Given the description of an element on the screen output the (x, y) to click on. 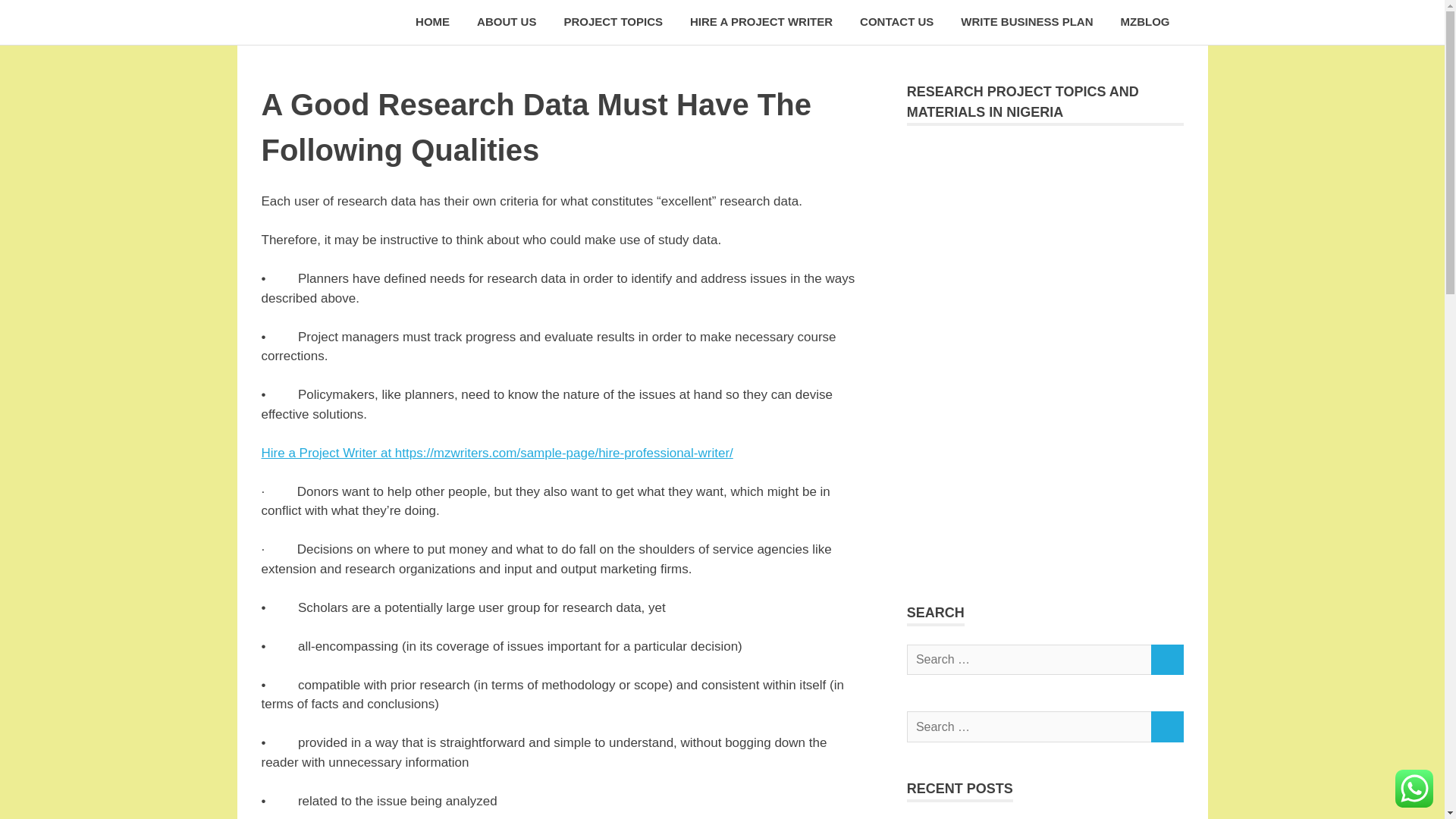
SEARCH (1166, 726)
HOME (432, 22)
MZBLOG (1144, 22)
Search for: (1029, 726)
Hire a Project Writer at  (327, 452)
WRITE BUSINESS PLAN (1026, 22)
PROJECT TOPICS (613, 22)
Search for: (1029, 659)
SEARCH (1166, 659)
HIRE A PROJECT WRITER (761, 22)
